Given the description of an element on the screen output the (x, y) to click on. 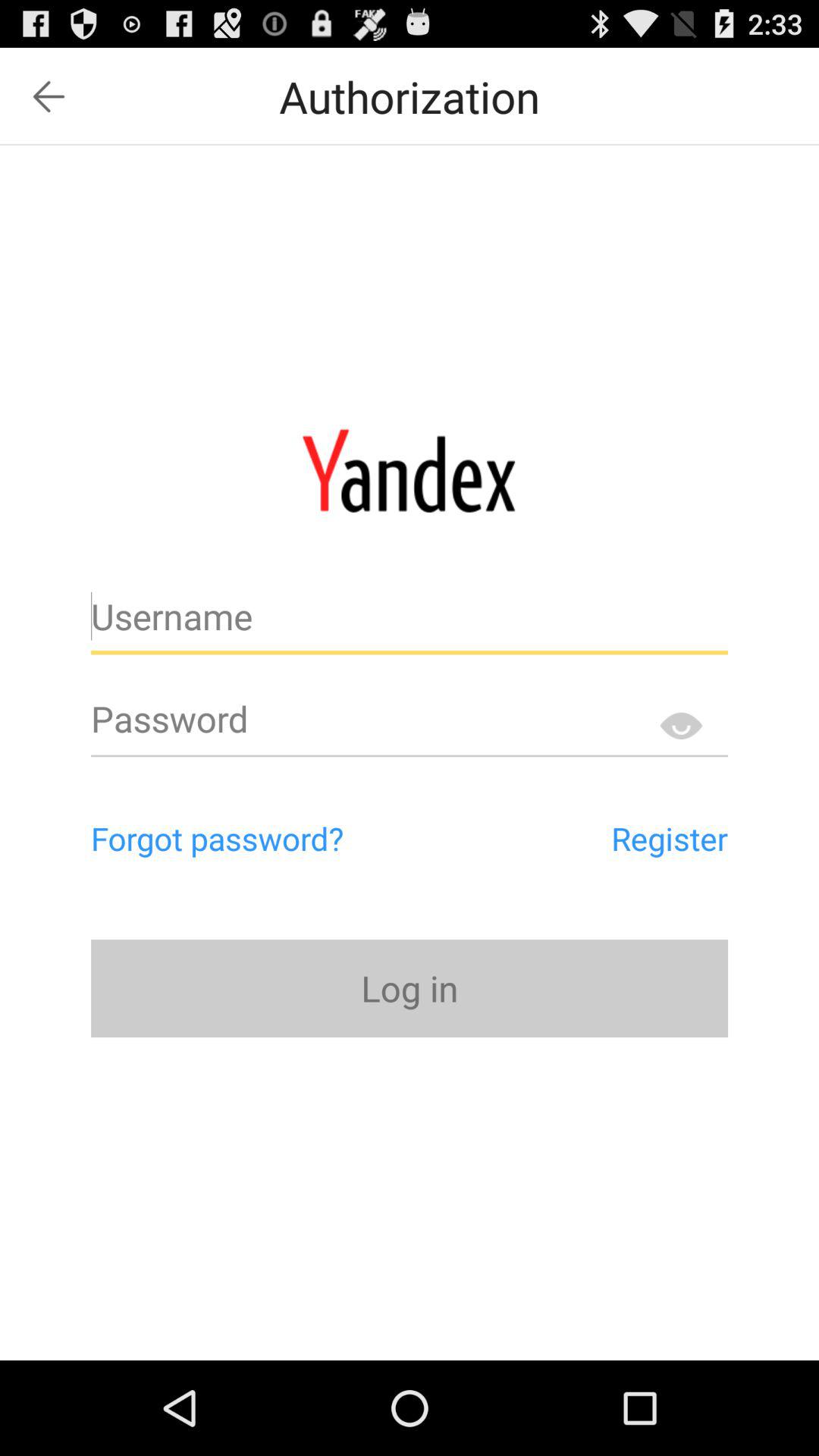
choose item next to the register item (282, 837)
